Given the description of an element on the screen output the (x, y) to click on. 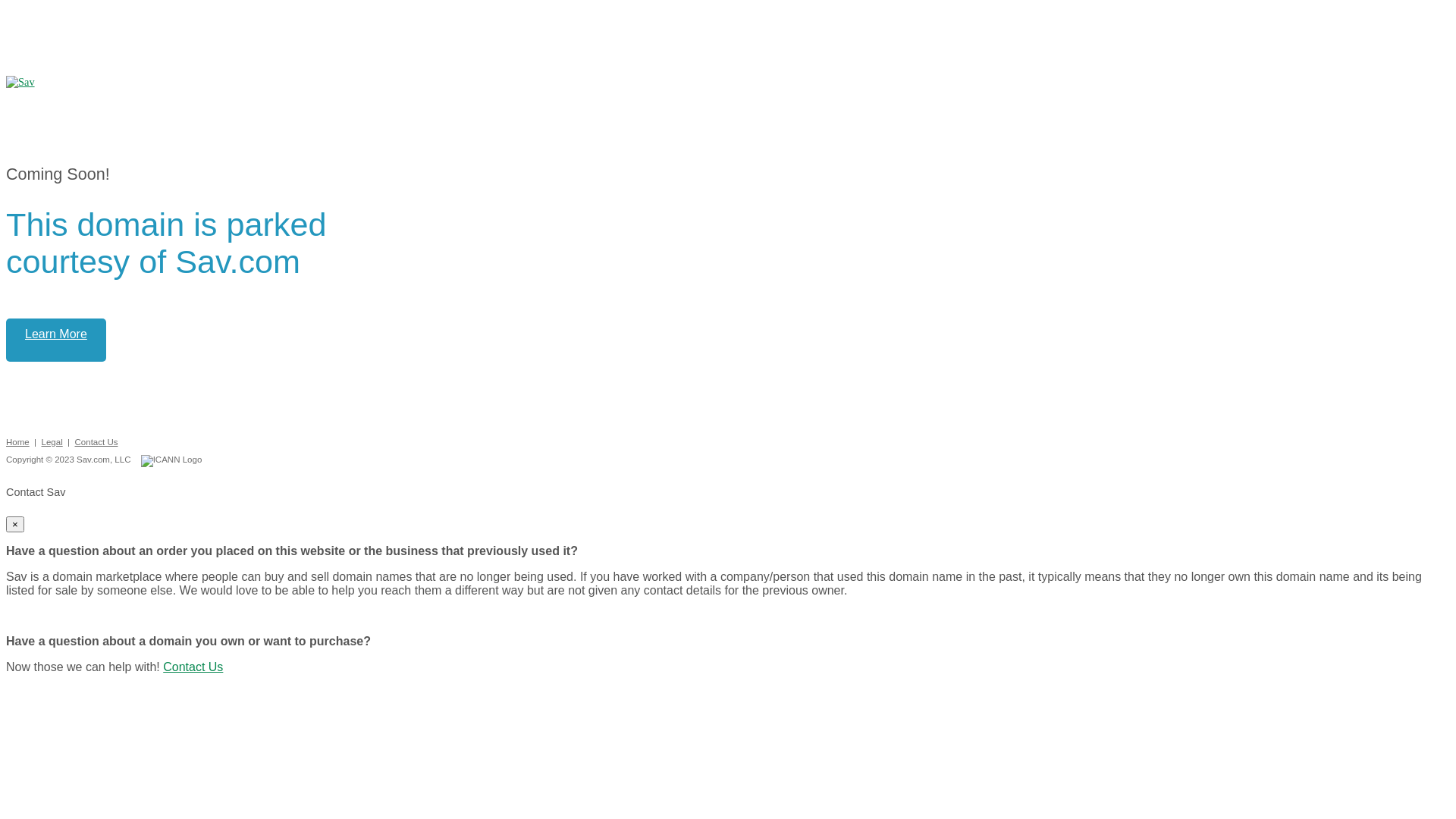
Contact Us Element type: text (95, 441)
Contact Us Element type: text (192, 666)
Learn More Element type: text (56, 339)
Legal Element type: text (51, 441)
Home Element type: text (17, 441)
